Given the description of an element on the screen output the (x, y) to click on. 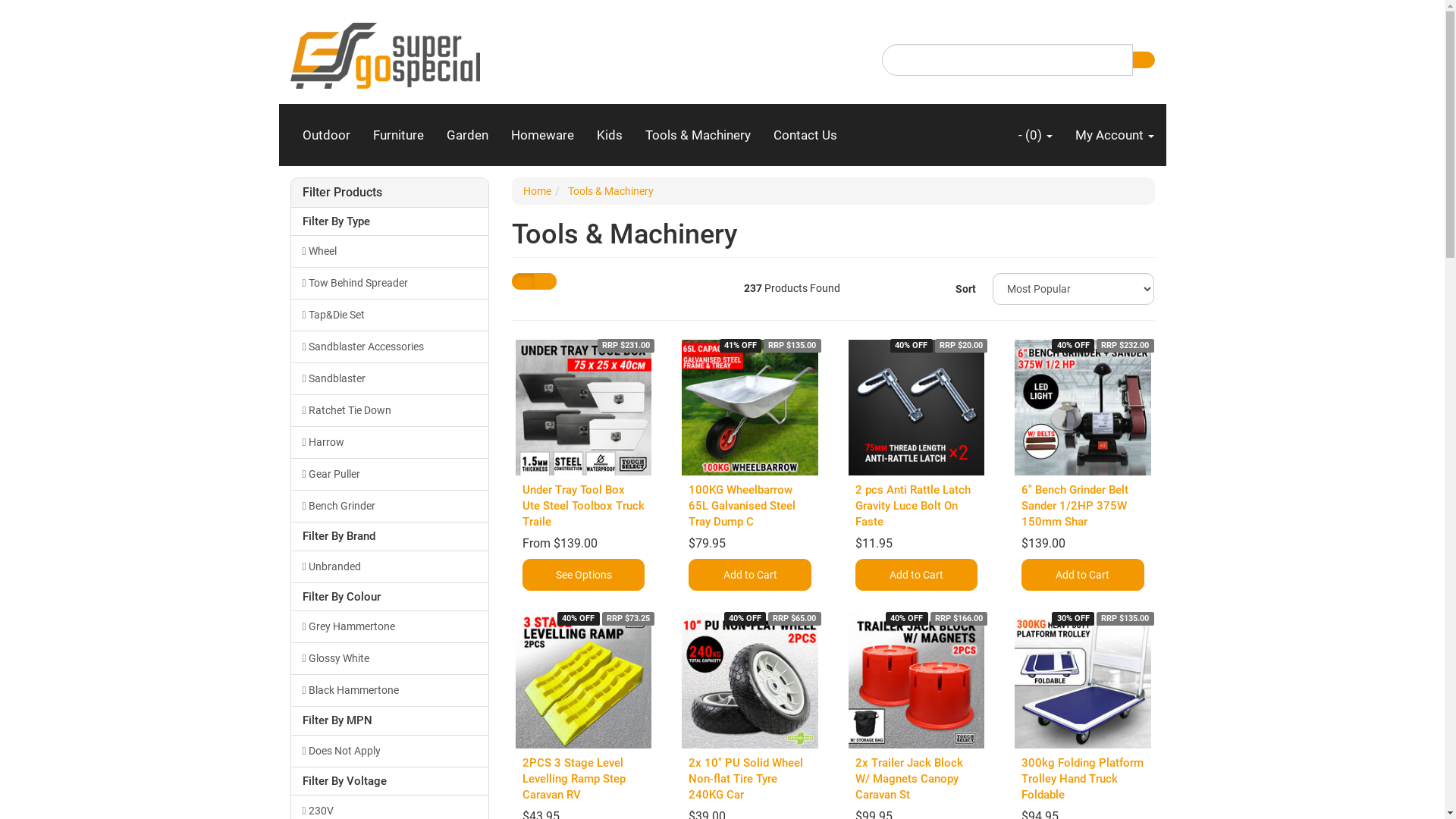
Furniture Element type: text (397, 134)
Tap&Die Set Element type: text (390, 314)
Harrow Element type: text (390, 442)
Unbranded Element type: text (390, 566)
Home Element type: text (537, 191)
Under Tray Tool Box Ute Steel Toolbox Truck Traile Element type: text (583, 505)
Wheel Element type: text (390, 250)
Contact Us Element type: text (804, 134)
My Account Element type: text (1113, 134)
2x Trailer Jack Block W/ Magnets Canopy Caravan St Element type: text (909, 778)
Grey Hammertone Element type: text (390, 626)
2x 10" PU Solid Wheel Non-flat Tire Tyre 240KG Car Element type: text (745, 778)
Does Not Apply Element type: text (390, 750)
Outdoor Element type: text (326, 134)
Gear Puller Element type: text (390, 473)
Kids Element type: text (609, 134)
Add to Cart Element type: text (749, 574)
Search Element type: text (1142, 59)
Garden Element type: text (467, 134)
Glossy White Element type: text (390, 658)
Tools & Machinery Element type: text (697, 134)
Tools & Machinery Element type: text (610, 191)
Tow Behind Spreader Element type: text (390, 282)
Add to Cart Element type: text (1082, 574)
- (0) Element type: text (1035, 134)
2 pcs Anti Rattle Latch Gravity Luce Bolt On Faste Element type: text (912, 505)
Sandblaster Accessories Element type: text (390, 346)
Ratchet Tie Down Element type: text (390, 410)
Bench Grinder Element type: text (390, 505)
6" Bench Grinder Belt Sander 1/2HP 375W 150mm Shar Element type: text (1074, 505)
GoSuperSpecial Element type: hover (384, 50)
Sandblaster Element type: text (390, 378)
Black Hammertone Element type: text (390, 690)
2PCS 3 Stage Level Levelling Ramp Step Caravan RV Element type: text (573, 778)
Add to Cart Element type: text (916, 574)
Homeware Element type: text (541, 134)
Filter Products Element type: text (388, 192)
100KG Wheelbarrow 65L Galvanised Steel Tray Dump C Element type: text (741, 505)
300kg Folding Platform Trolley Hand Truck Foldable Element type: text (1082, 778)
See Options Element type: text (583, 574)
